Given the description of an element on the screen output the (x, y) to click on. 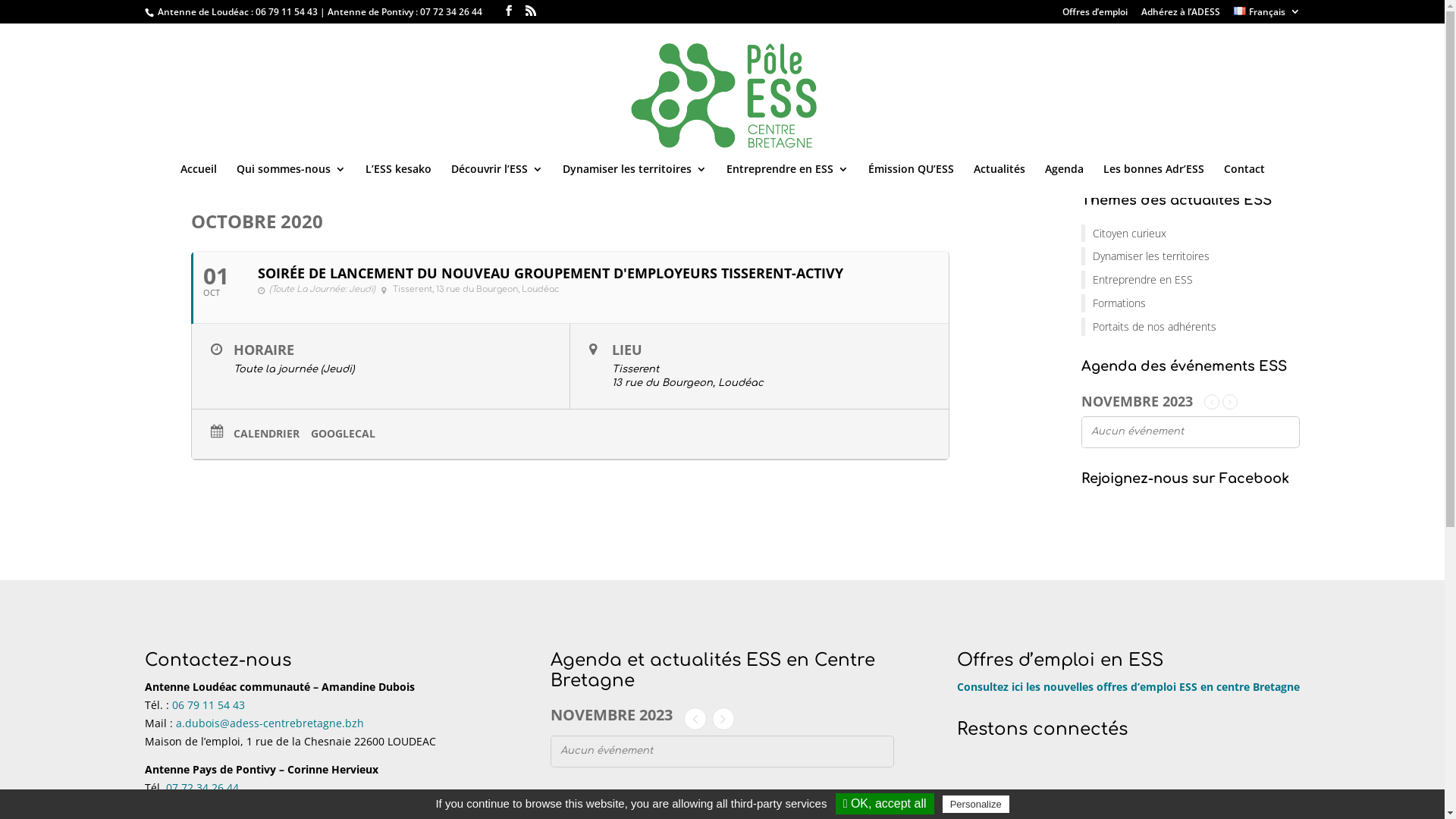
a.dubois@adess-centrebretagne.bzh Element type: text (269, 722)
Dynamiser les territoires Element type: text (1190, 256)
Formations Element type: text (1190, 303)
Antenne de Pontivy : 07 72 34 26 44 Element type: text (405, 11)
06 79 11 54 43 Element type: text (207, 704)
Accueil Element type: text (198, 180)
Agenda Element type: text (1063, 180)
Personalize Element type: text (975, 803)
GOOGLECAL Element type: text (348, 433)
CALENDRIER Element type: text (271, 433)
Citoyen curieux Element type: text (1190, 233)
Dynamiser les territoires Element type: text (634, 180)
c.hervieux@adess-centrebretagne.bzh Element type: text (273, 805)
Contact Element type: text (1243, 180)
07 72 34 26 44 Element type: text (201, 787)
Entreprendre en ESS Element type: text (1190, 279)
Qui sommes-nous Element type: text (290, 180)
Entreprendre en ESS Element type: text (787, 180)
